Given the description of an element on the screen output the (x, y) to click on. 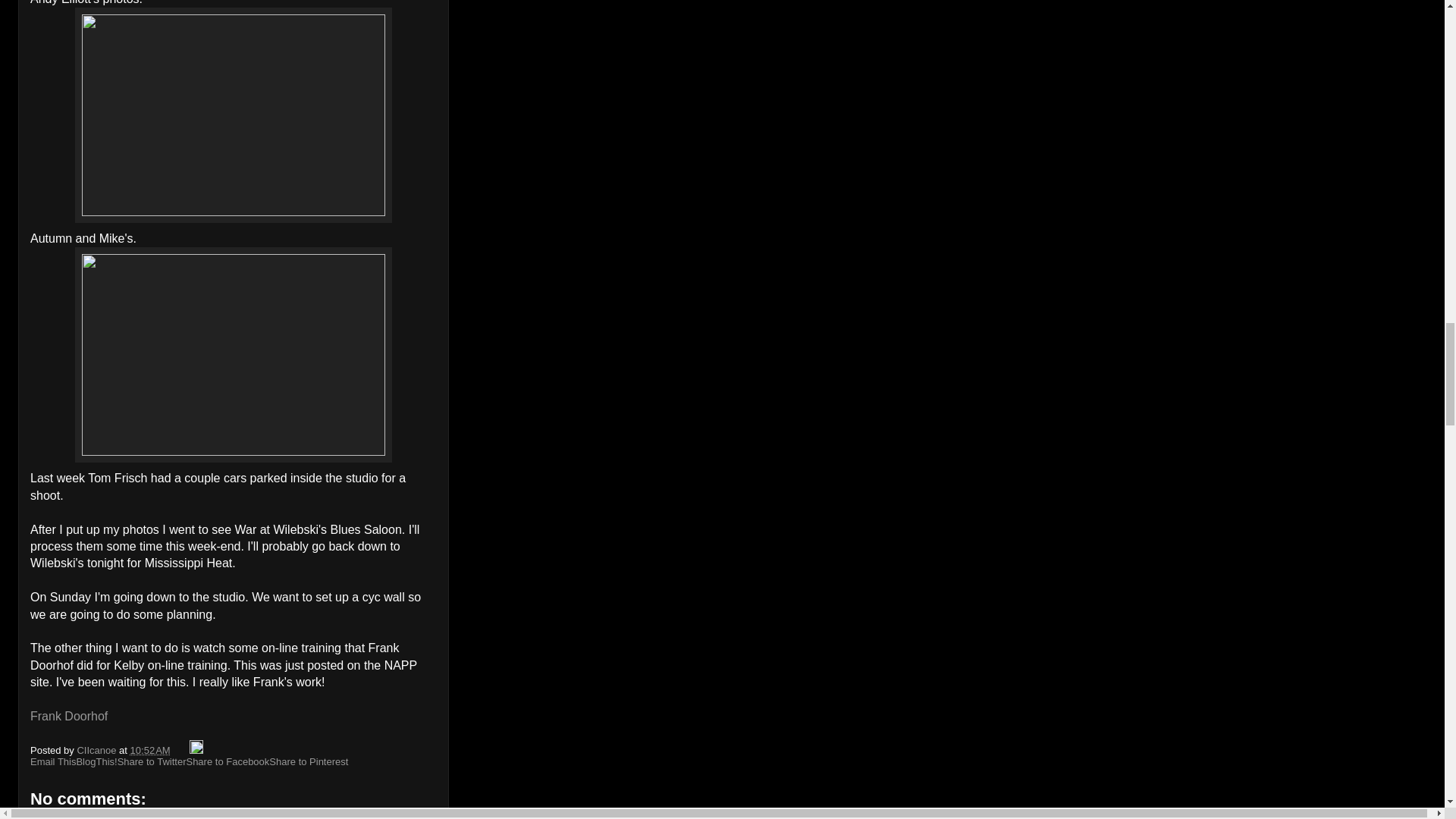
Share to Facebook (227, 761)
Email This (52, 761)
BlogThis! (95, 761)
author profile (98, 749)
Email Post (181, 749)
Share to Pinterest (308, 761)
BlogThis! (95, 761)
Email This (52, 761)
permanent link (150, 749)
Share to Twitter (151, 761)
Share to Twitter (151, 761)
Edit Post (196, 749)
CIIcanoe (98, 749)
Share to Pinterest (308, 761)
